Given the description of an element on the screen output the (x, y) to click on. 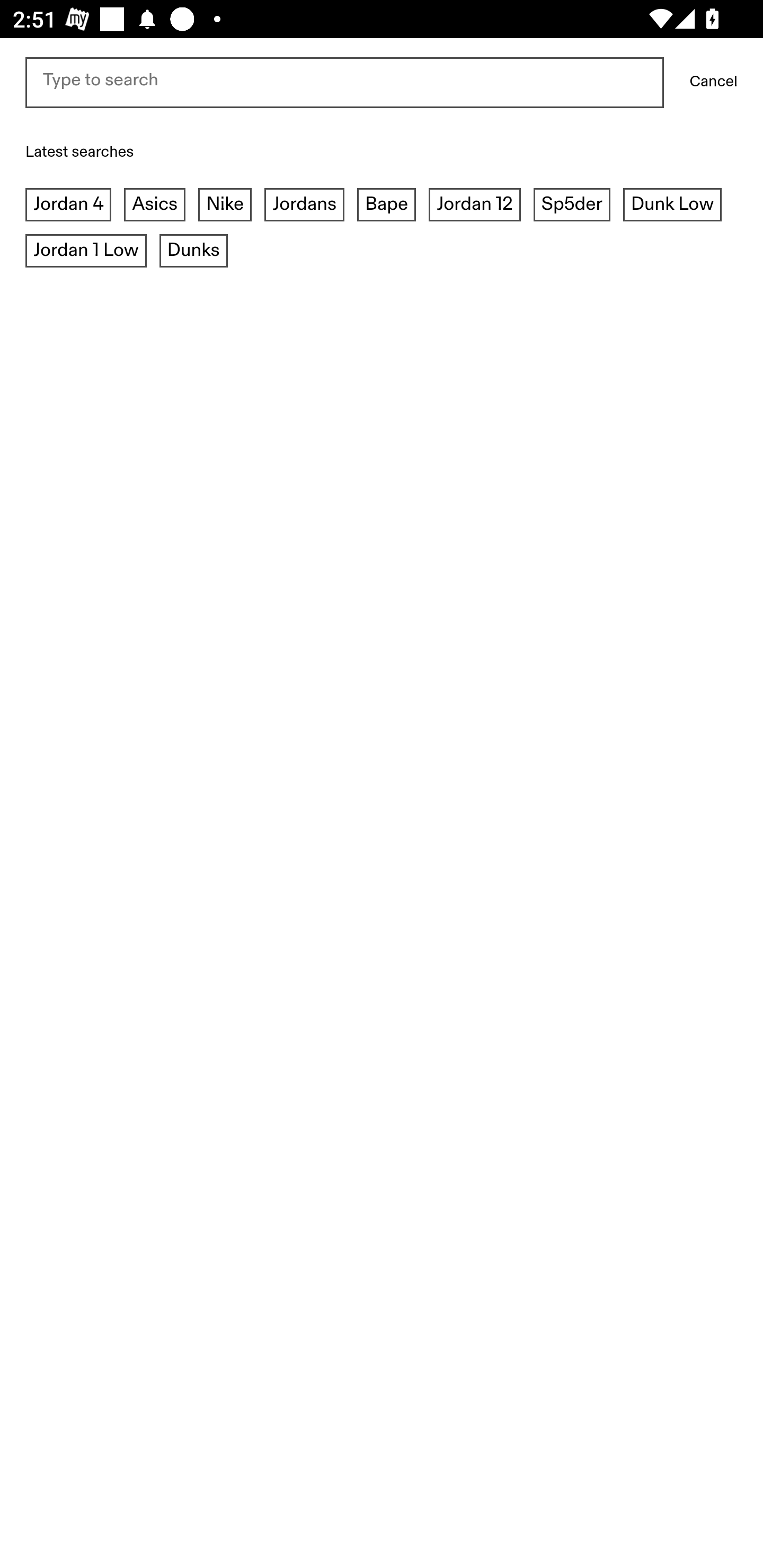
Cancel (713, 82)
Jordan 4 (68, 205)
Asics (154, 205)
Nike (224, 205)
Jordans (303, 205)
Bape (386, 205)
Jordan 12 (474, 205)
Sp5der (571, 205)
Dunk Low (672, 205)
Jordan 1 Low (86, 250)
Dunks (193, 250)
